Given the description of an element on the screen output the (x, y) to click on. 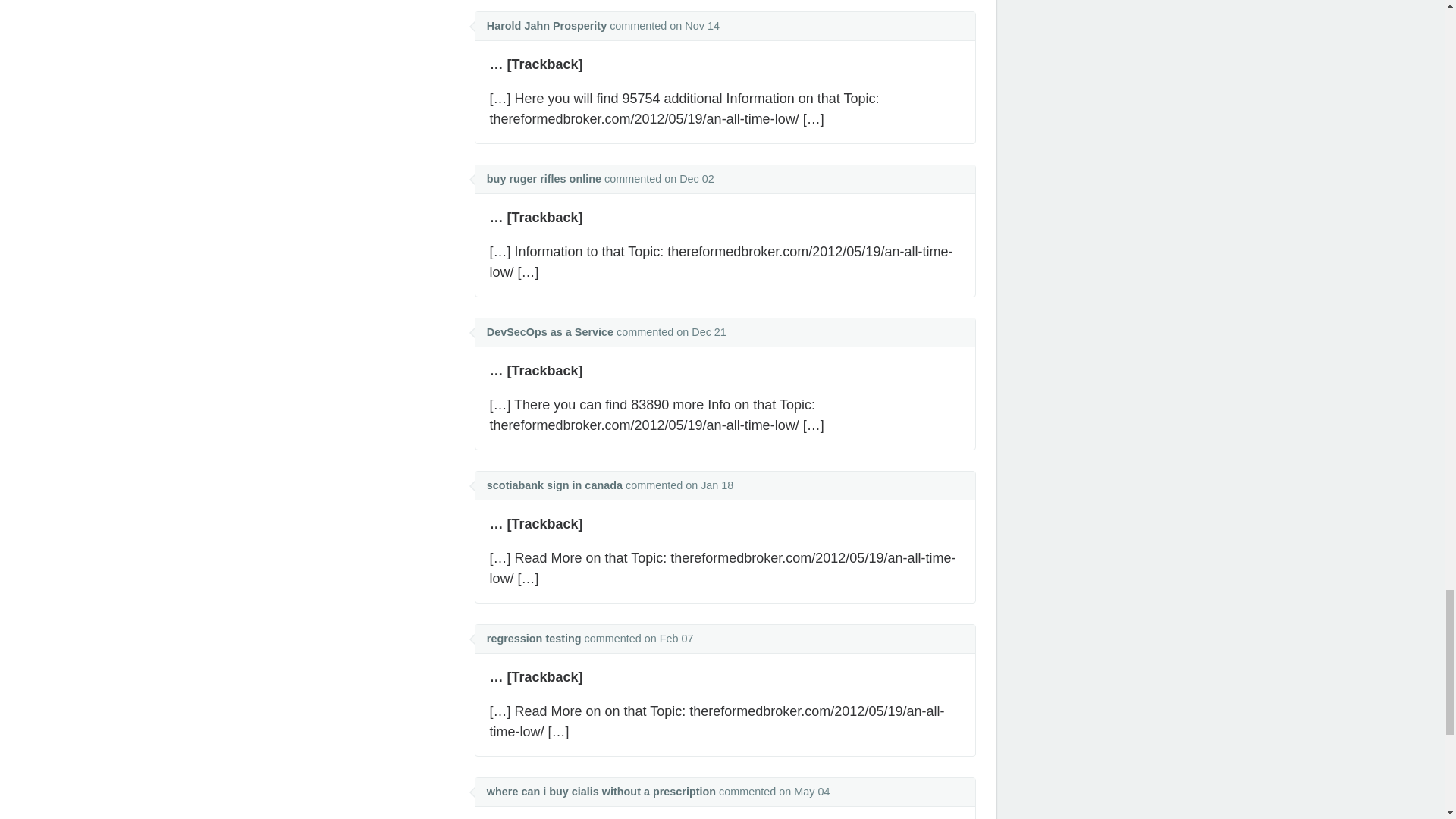
buy ruger rifles online (543, 178)
Harold Jahn Prosperity (546, 25)
DevSecOps as a Service (549, 331)
scotiabank sign in canada (554, 485)
